Given the description of an element on the screen output the (x, y) to click on. 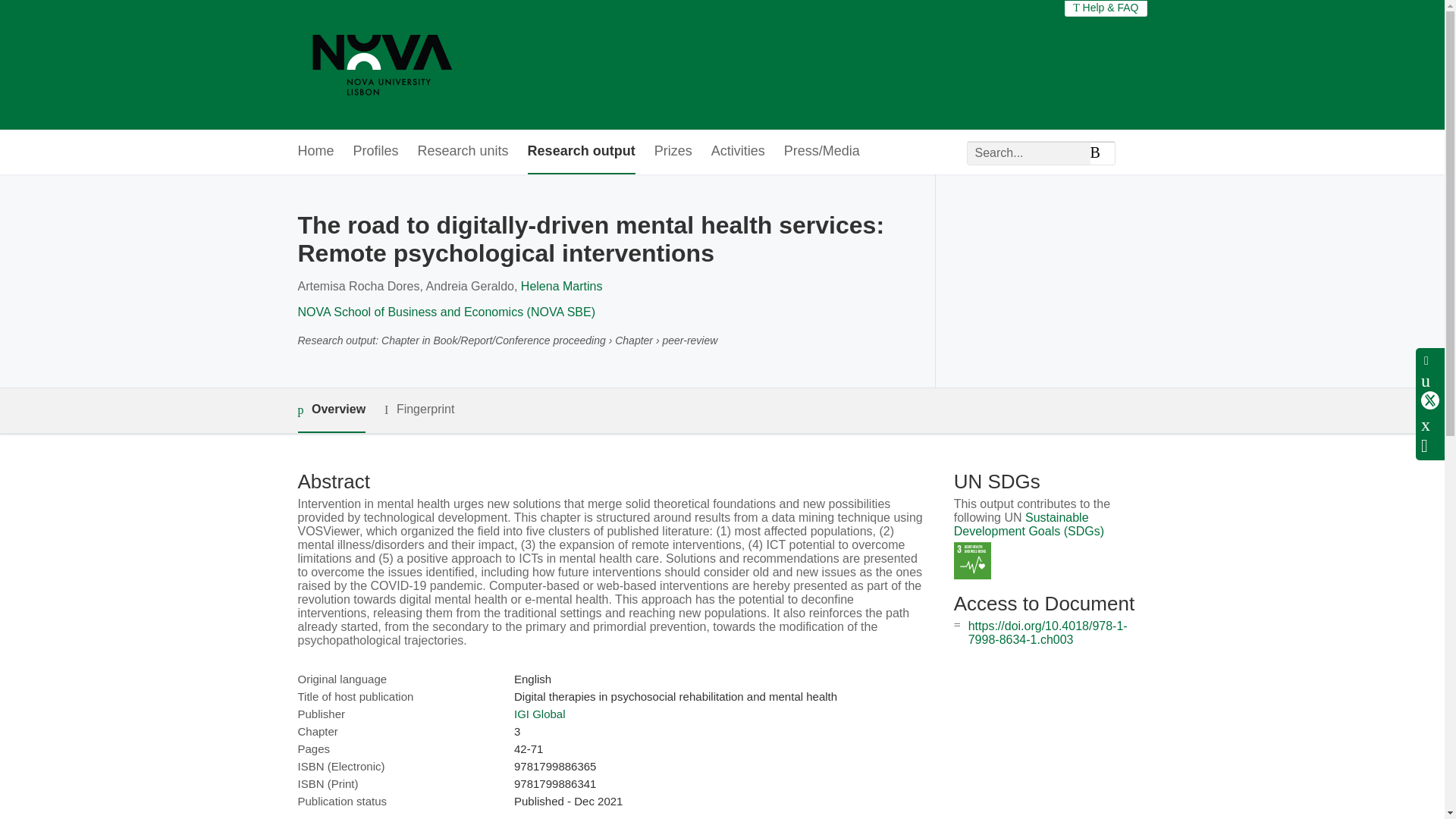
SDG 3 - Good Health and Well-being (972, 560)
Fingerprint (419, 409)
Helena Martins (561, 286)
Activities (738, 151)
IGI Global (539, 713)
Profiles (375, 151)
Research output (580, 151)
Overview (331, 410)
Universidade NOVA de Lisboa Home (382, 64)
Research units (462, 151)
